Given the description of an element on the screen output the (x, y) to click on. 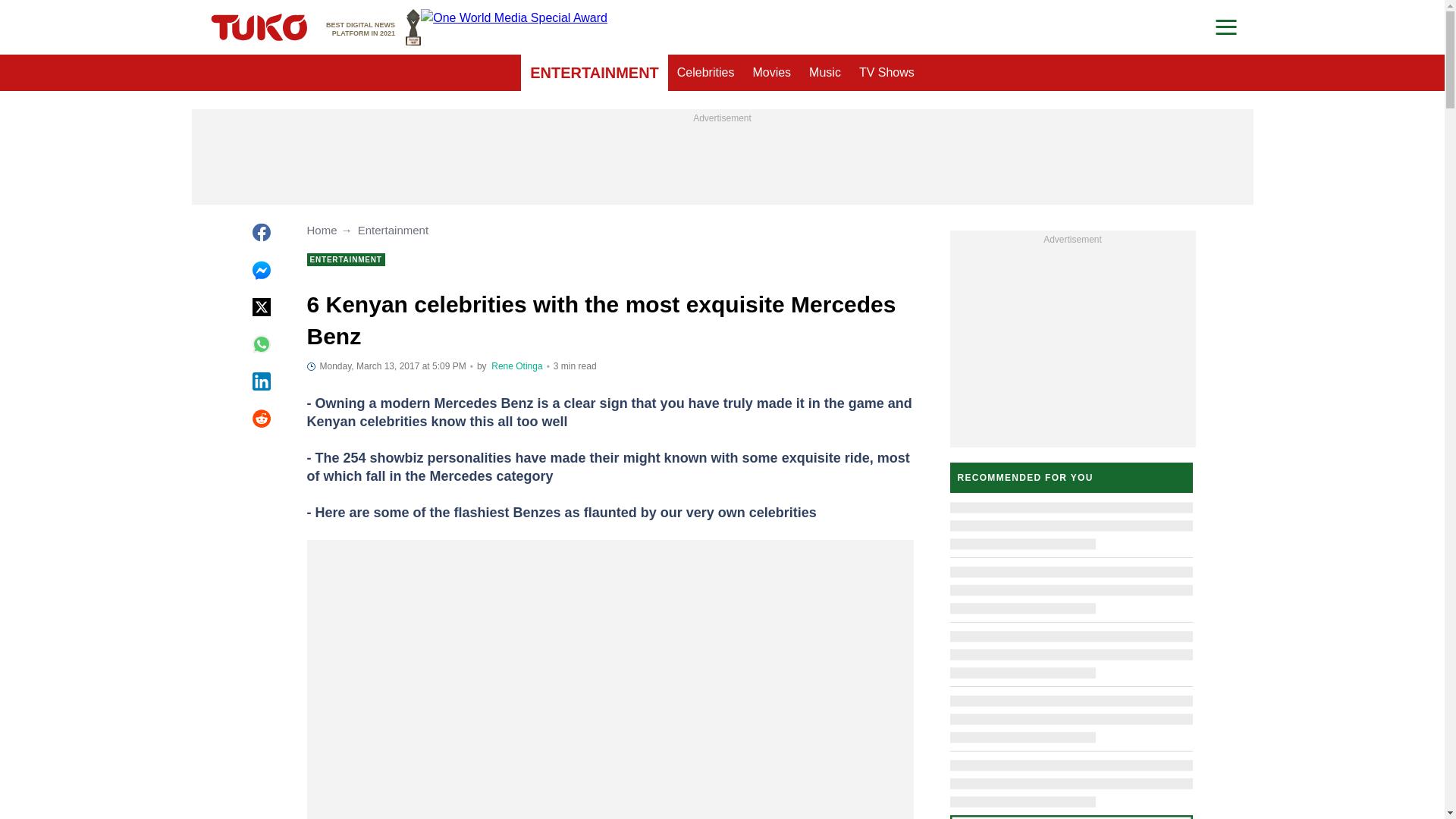
Celebrities (706, 72)
Movies (770, 72)
Author page (373, 27)
TV Shows (516, 366)
ENTERTAINMENT (886, 72)
Music (594, 72)
